Given the description of an element on the screen output the (x, y) to click on. 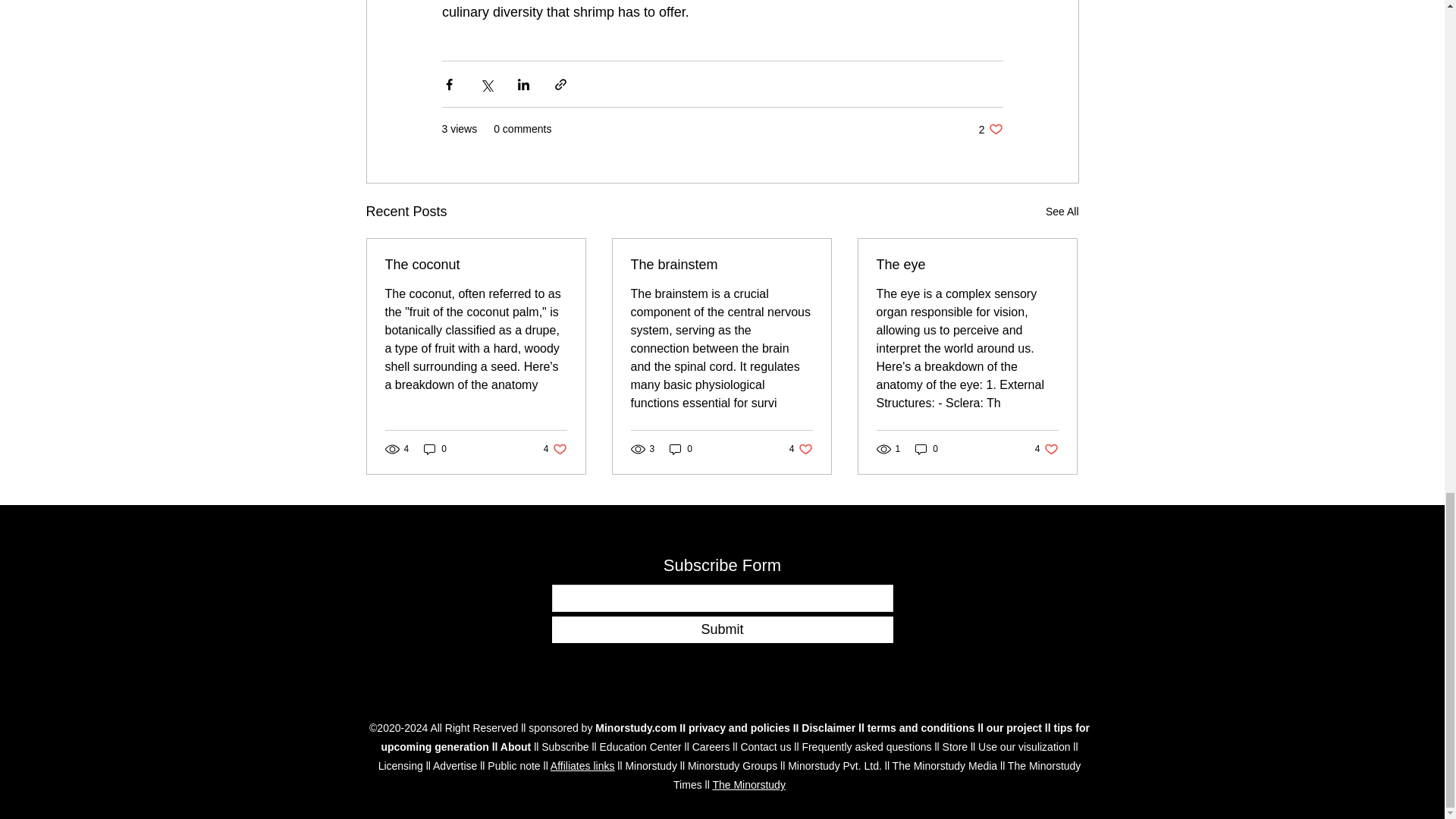
The Minorstudy (747, 784)
The brainstem (721, 264)
0 (555, 449)
See All (435, 449)
About (1061, 211)
Submit (515, 746)
0 (722, 629)
